Given the description of an element on the screen output the (x, y) to click on. 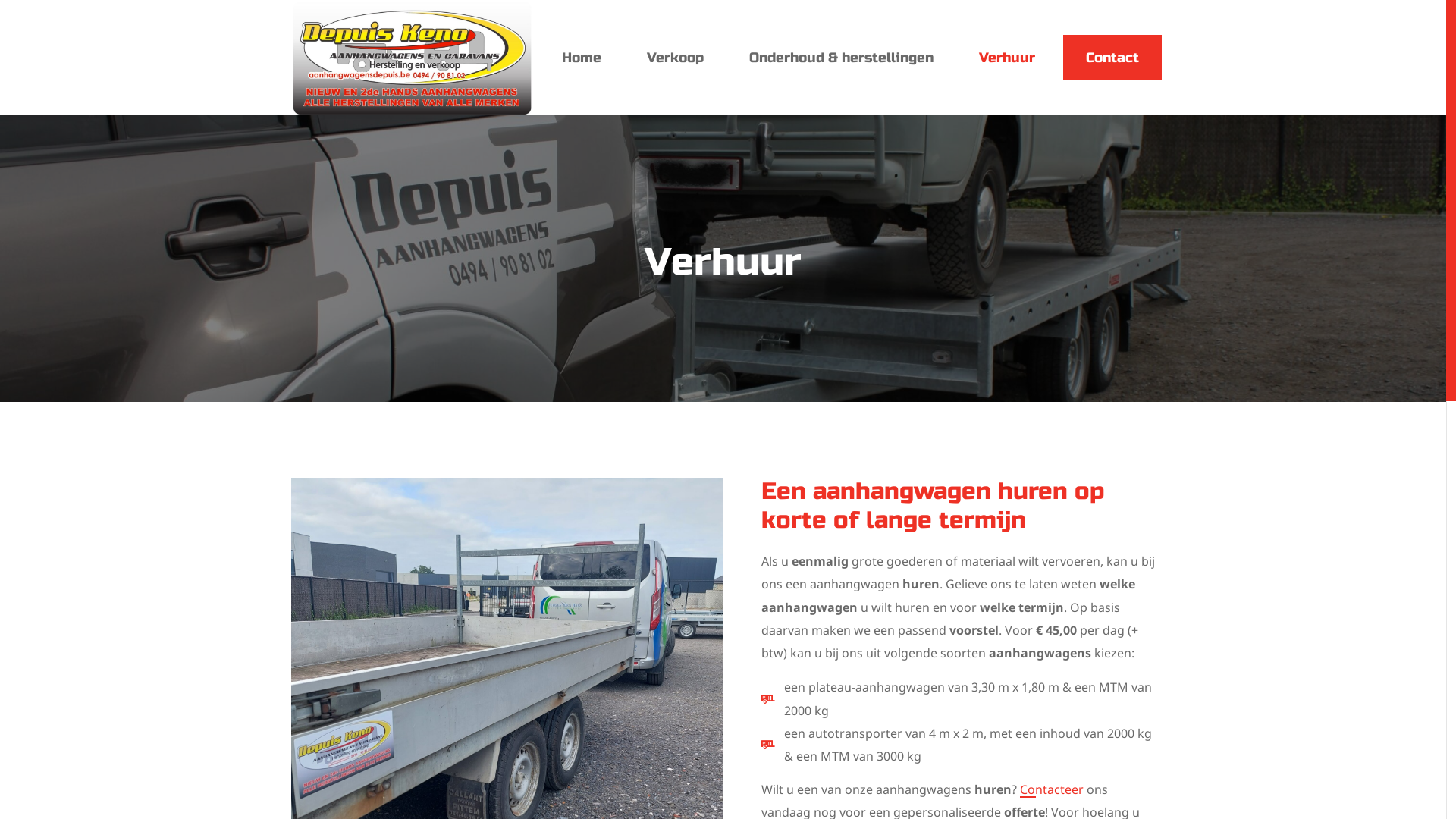
Contact Element type: text (1112, 57)
Onderhoud & herstellingen Element type: text (841, 57)
Home Element type: text (580, 57)
Verhuur Element type: text (1006, 57)
Contacteer Element type: text (1050, 789)
Verkoop Element type: text (674, 57)
